Given the description of an element on the screen output the (x, y) to click on. 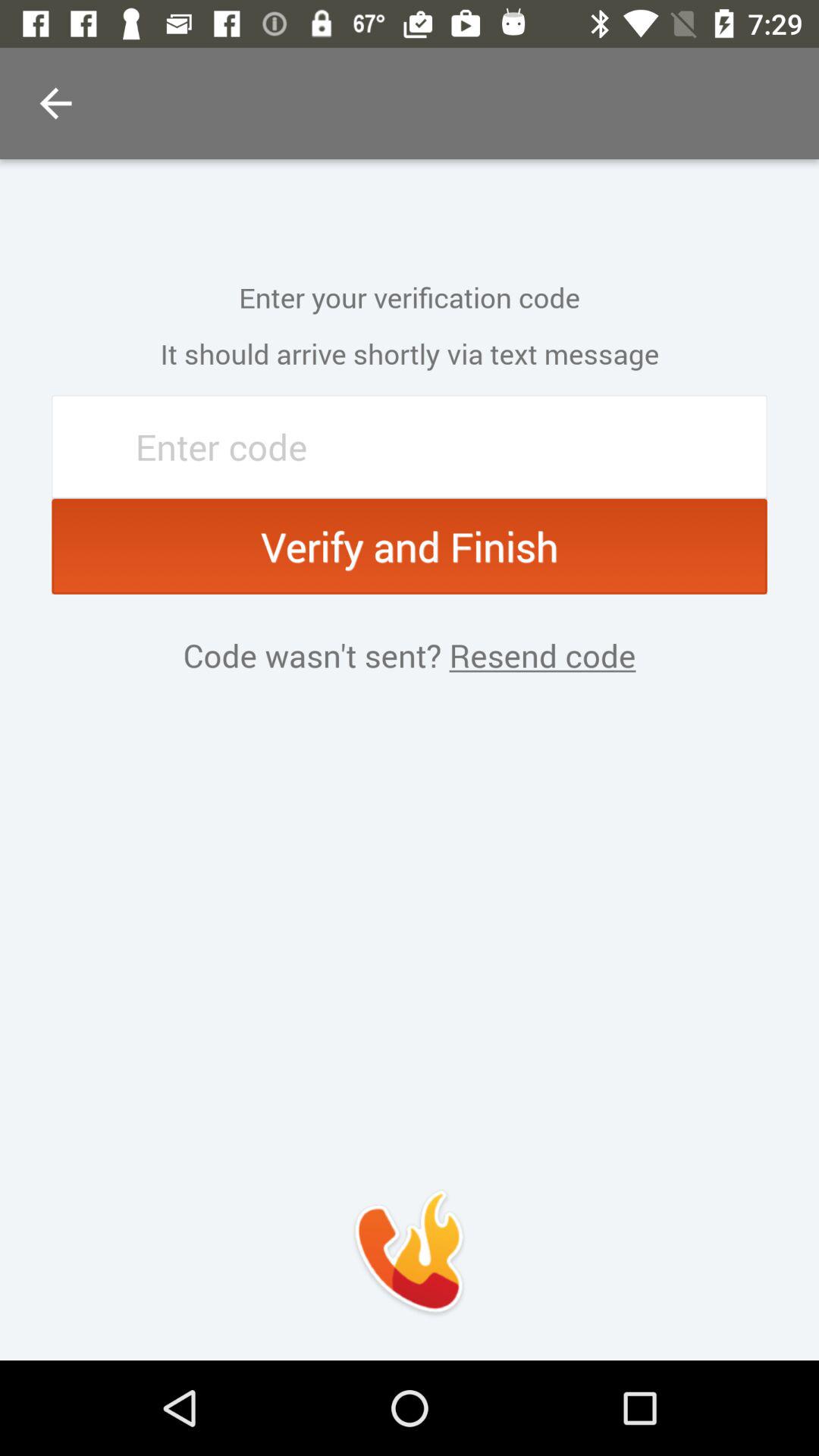
click the verify and finish icon (409, 546)
